Given the description of an element on the screen output the (x, y) to click on. 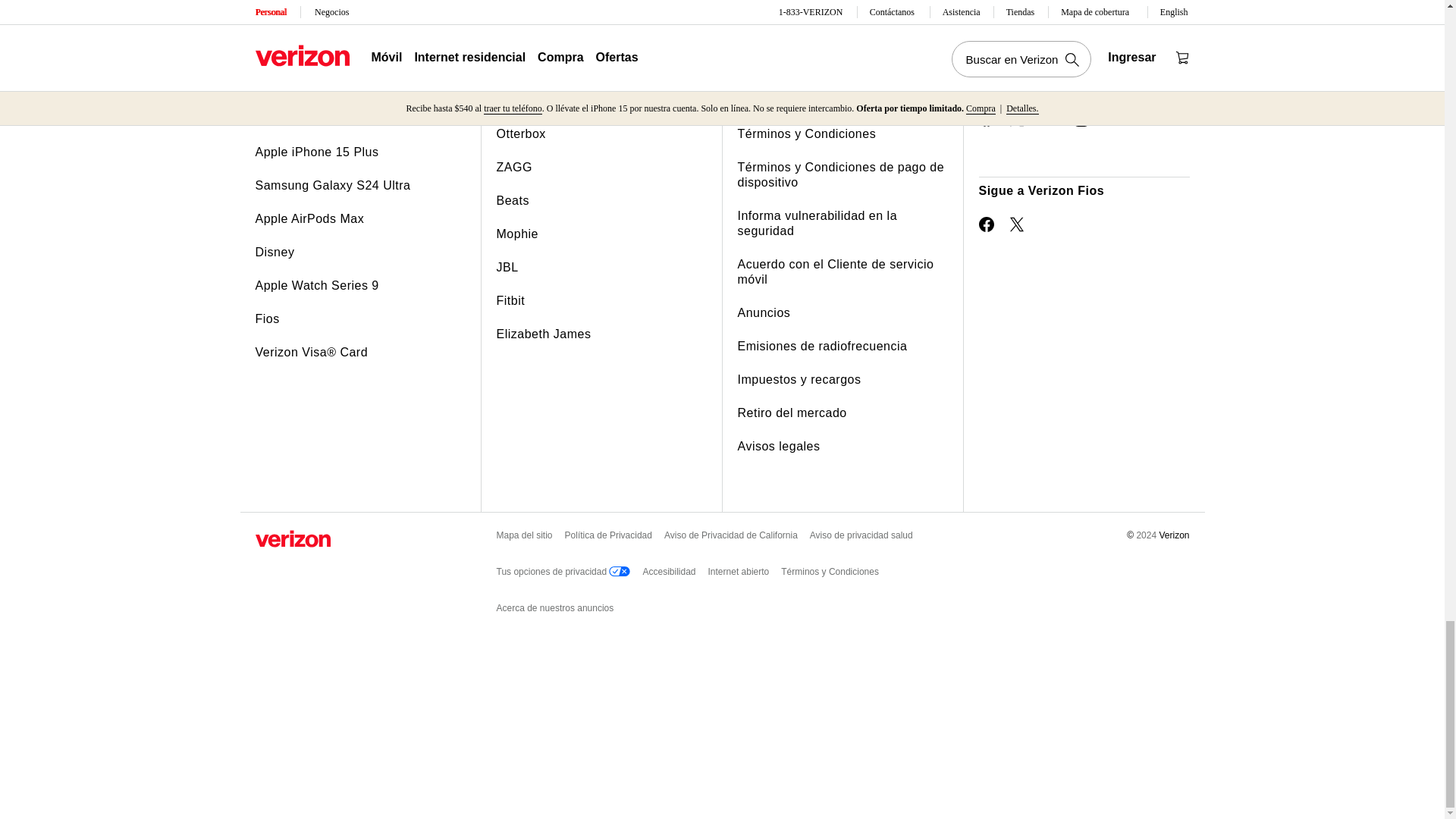
Abre una ventana nueva (1017, 118)
Abre una ventana nueva (1081, 118)
Abre una ventana nueva (985, 224)
Abre una ventana nueva (985, 118)
Abre una ventana nueva (1049, 119)
Abre una ventana nueva (1017, 224)
